Given the description of an element on the screen output the (x, y) to click on. 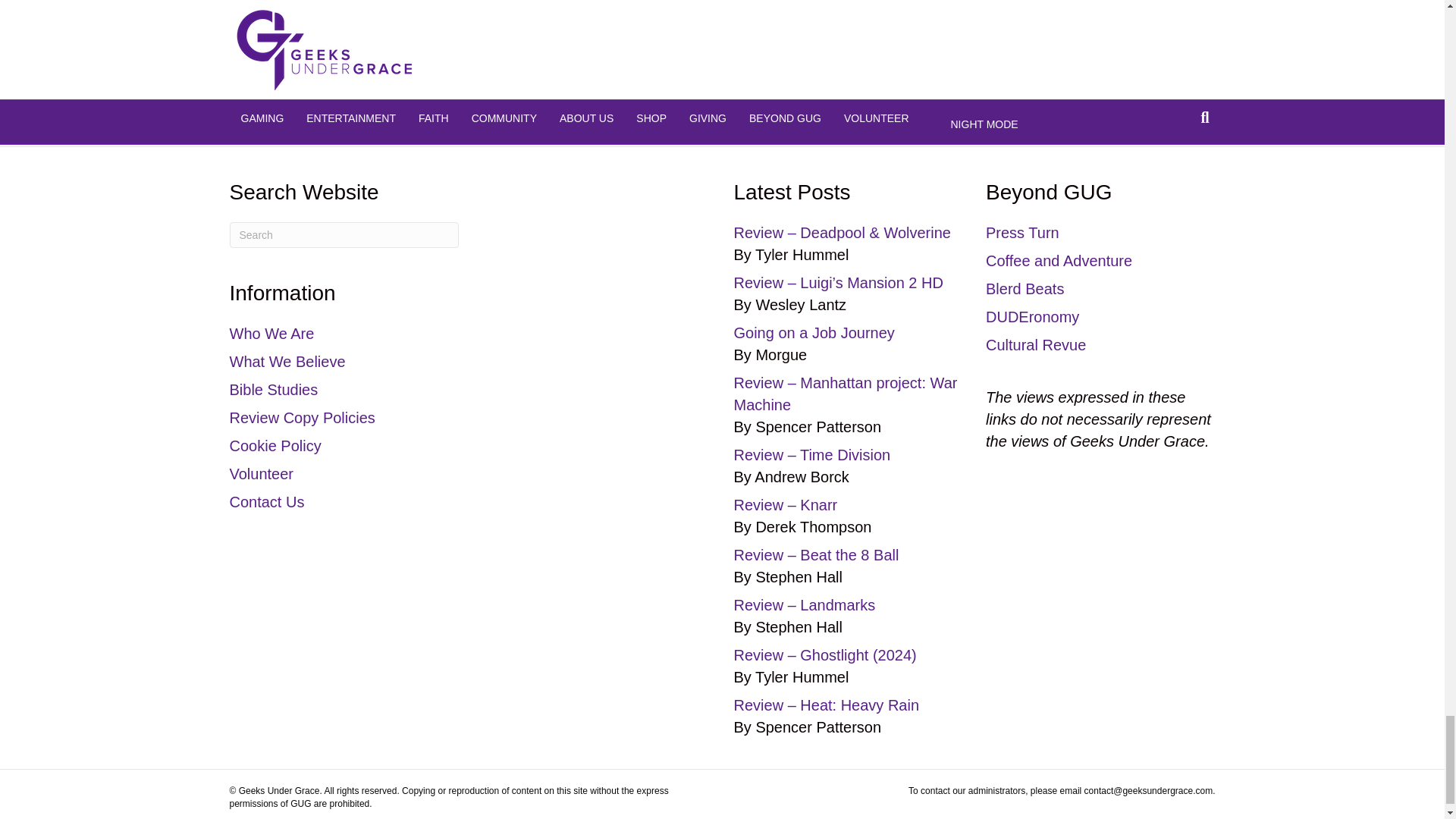
Type and press Enter to search. (343, 234)
Submit Comment (391, 64)
yes (339, 30)
